Given the description of an element on the screen output the (x, y) to click on. 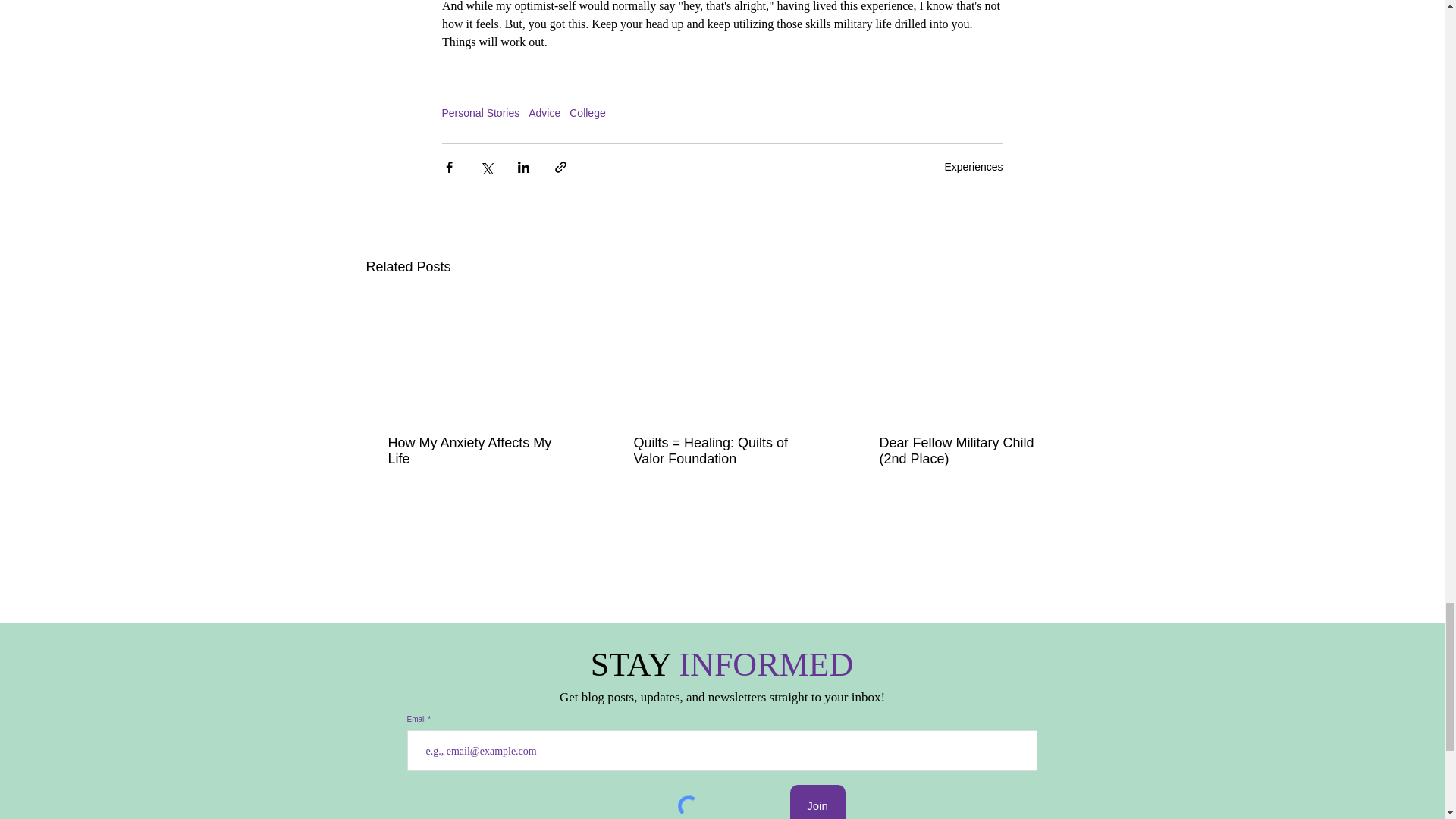
Advice (544, 112)
College (587, 112)
Personal Stories (480, 112)
Experiences (973, 166)
How My Anxiety Affects My Life (476, 450)
